Given the description of an element on the screen output the (x, y) to click on. 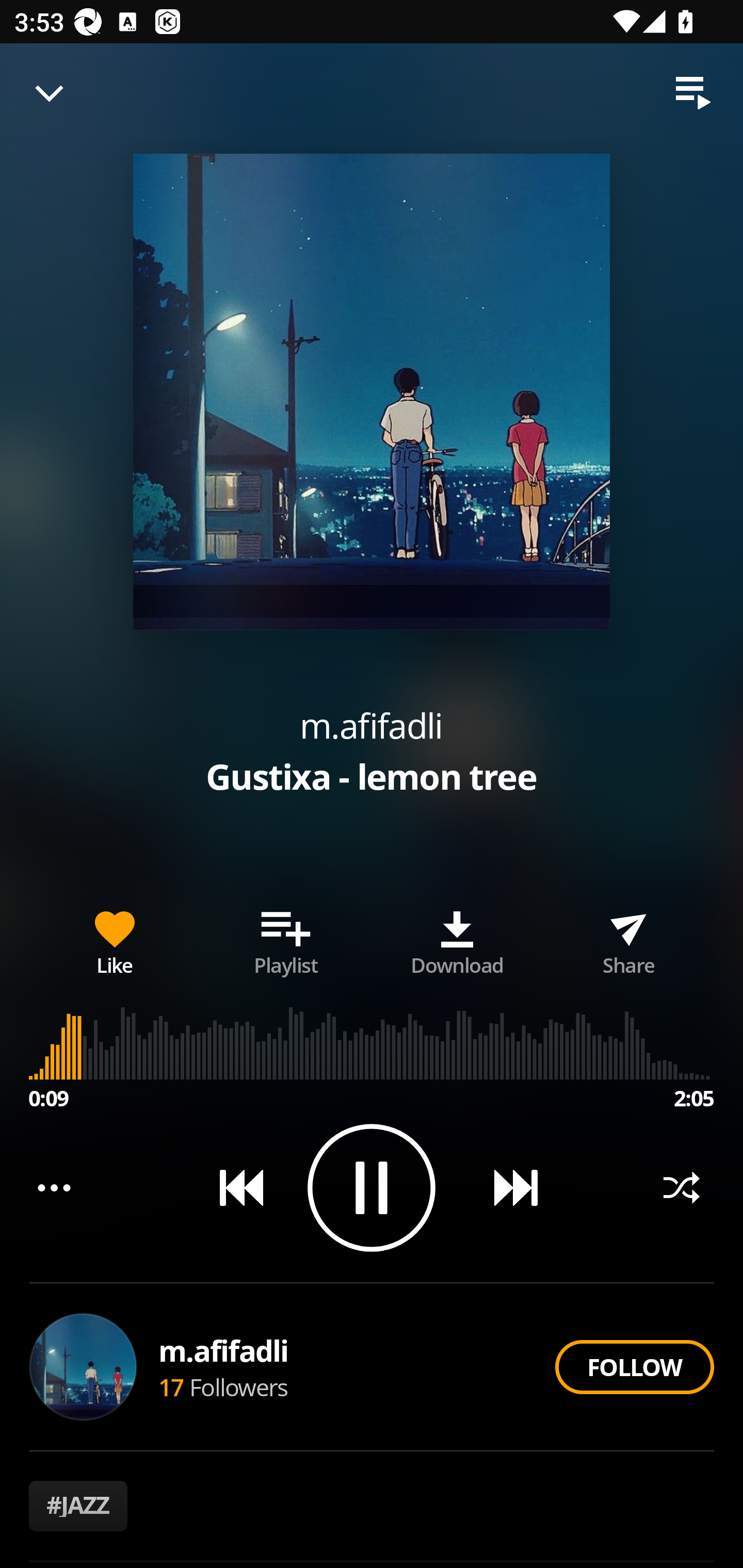
Minimise player (49, 93)
Queue (693, 93)
Album art (371, 391)
m.afifadli (370, 724)
Like (113, 939)
Add song to playlist Playlist (285, 939)
Download (457, 939)
Share (628, 939)
Play/Pause (371, 1187)
Previous song (233, 1187)
Next song (508, 1187)
m.afifadli (224, 1350)
FOLLOW Follow (634, 1366)
17 (171, 1386)
#JAZZ (77, 1505)
